Given the description of an element on the screen output the (x, y) to click on. 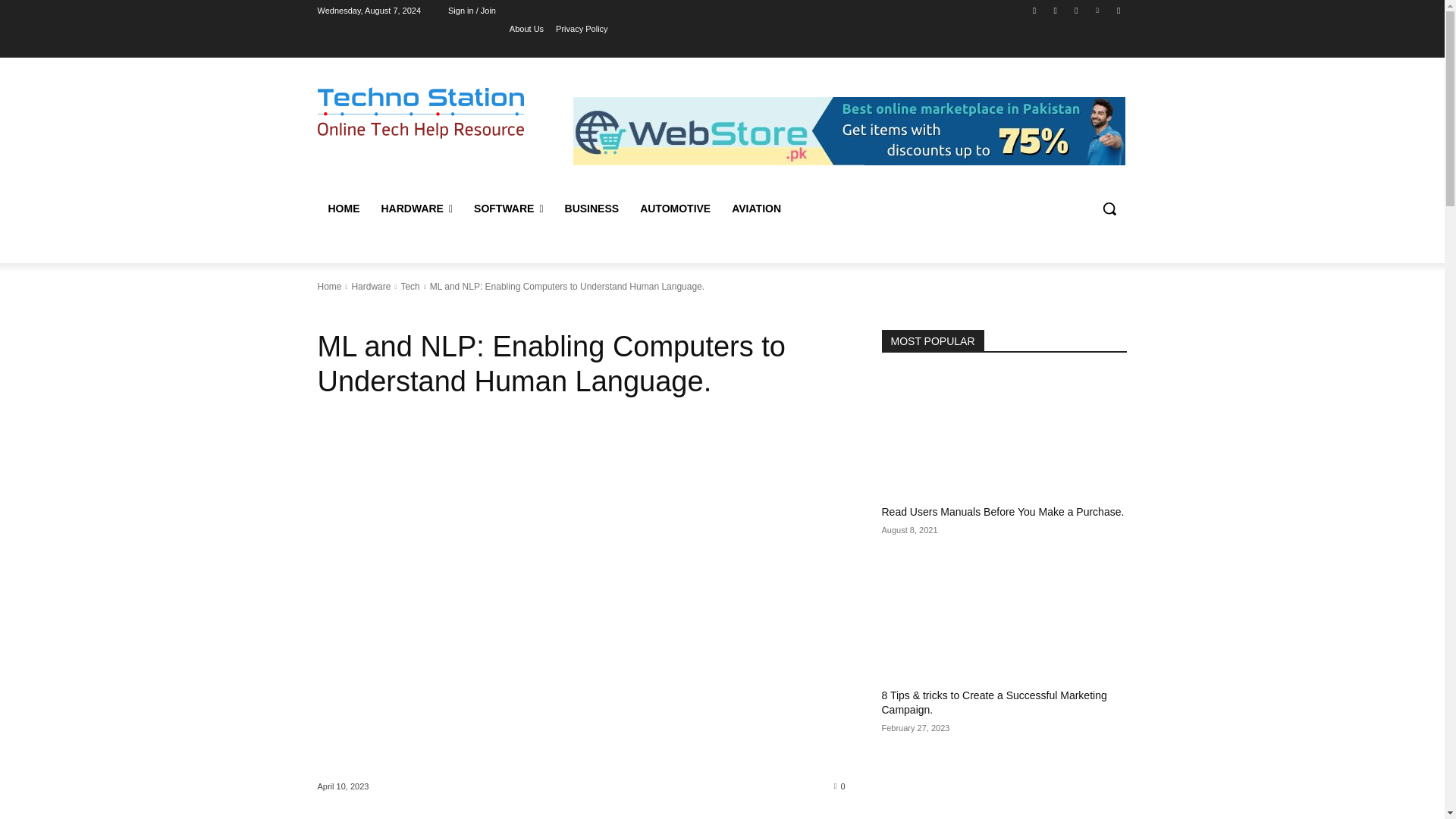
Instagram (1055, 9)
Youtube (1117, 9)
View all posts in Tech (409, 286)
Vimeo (1097, 9)
Twitter (1075, 9)
HOME (343, 208)
Online Tech Help Recource! (419, 112)
Privacy Policy (581, 28)
HARDWARE (416, 208)
View all posts in Hardware (370, 286)
Facebook (1034, 9)
About Us (526, 28)
